Given the description of an element on the screen output the (x, y) to click on. 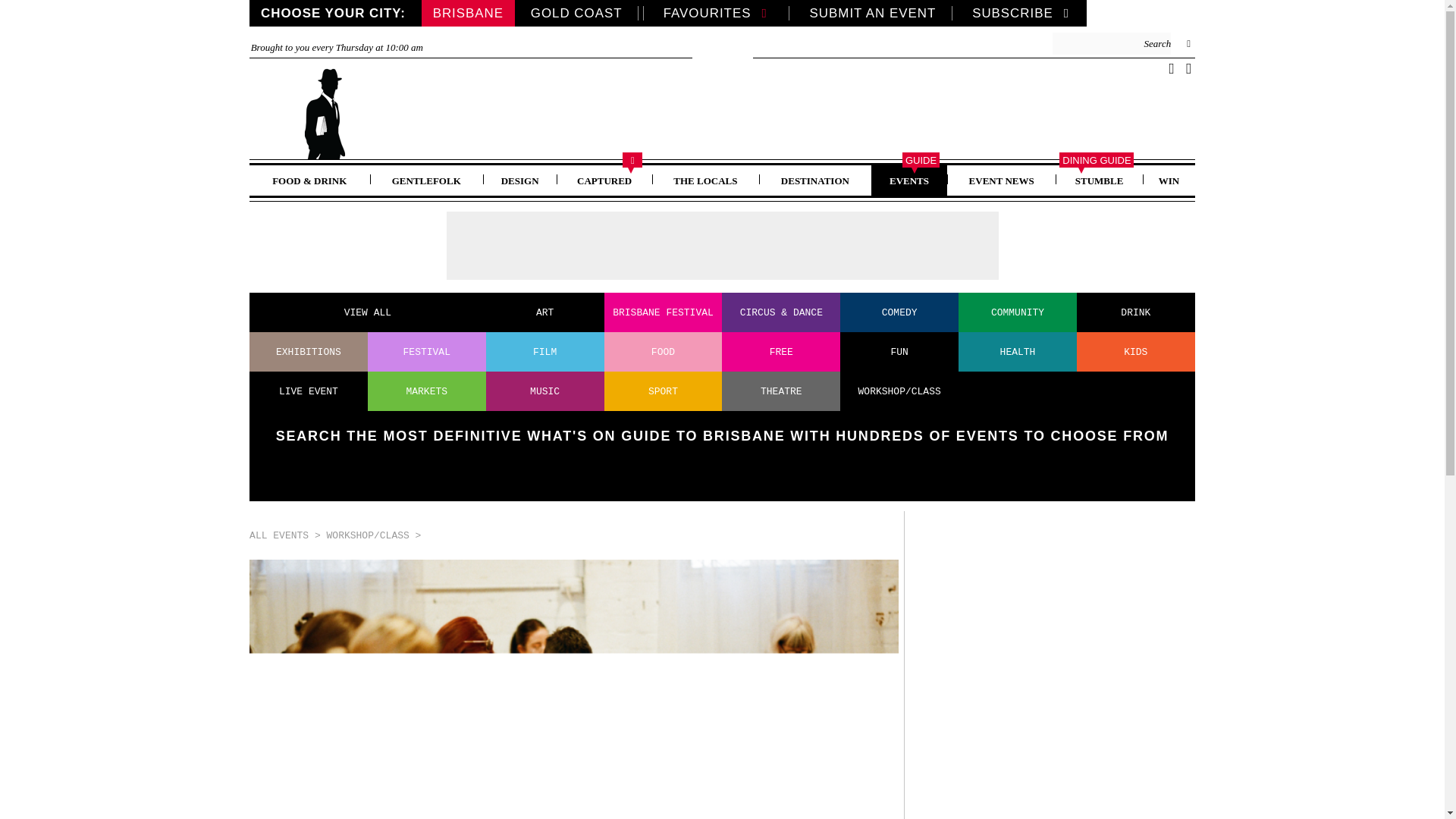
Find Us On Instagram (1188, 68)
THE LOCALS (705, 180)
MARKETS (427, 391)
VIEW ALL (368, 312)
View Favourites (718, 13)
DRINK (1136, 312)
EVENTS (909, 180)
GENTLEFOLK (425, 180)
ART (544, 312)
Destination (814, 180)
FOOD (663, 351)
The Locals (705, 180)
FAVOURITES (718, 13)
Event News (1000, 180)
Find Us On Facebook (1171, 68)
